Given the description of an element on the screen output the (x, y) to click on. 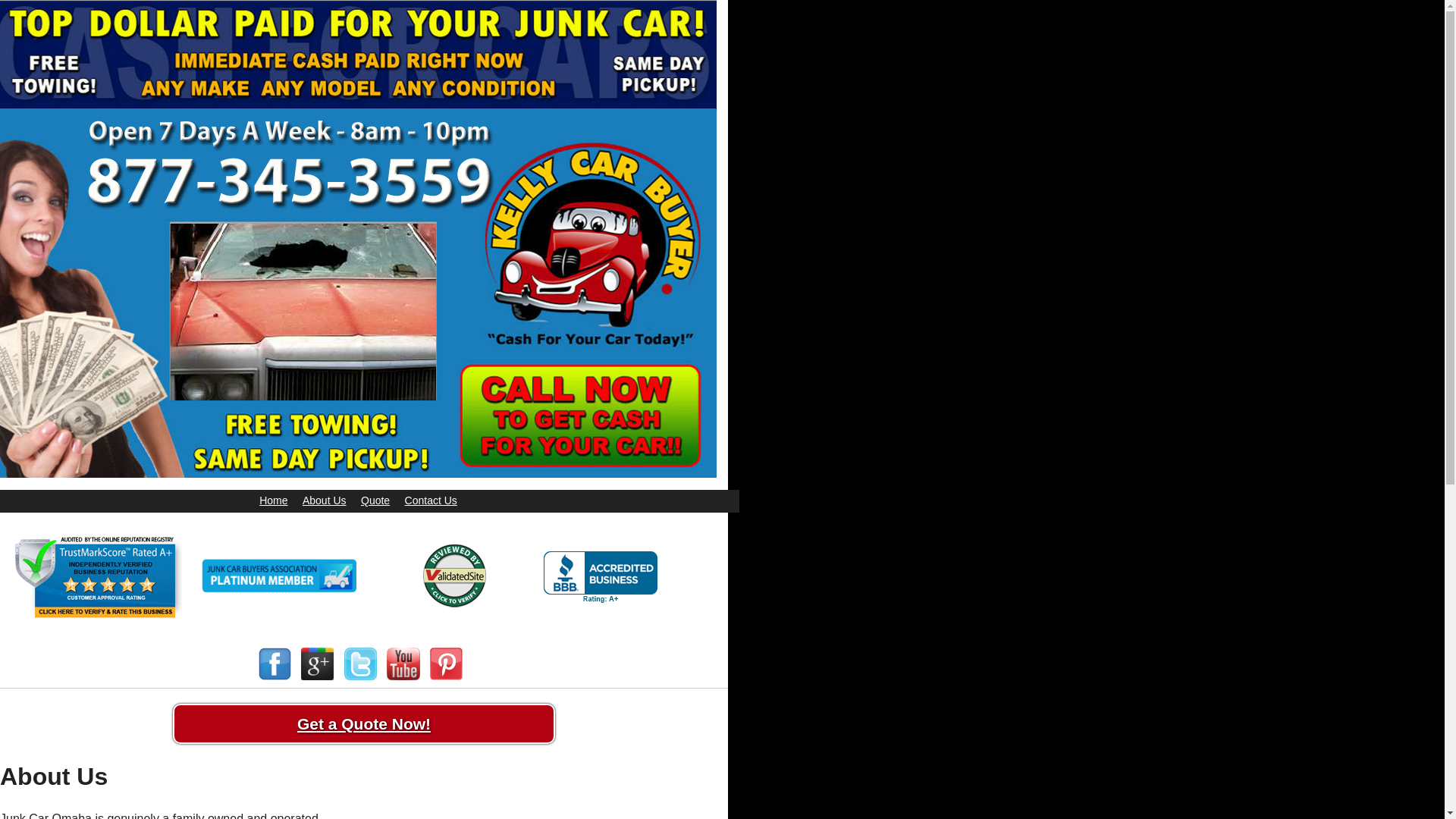
Kelly Car Buyer, Auto Dealers  Used Cars, Frankfort, IL (600, 577)
Home (272, 500)
Get a Quote Now! (363, 723)
Contact Us (430, 500)
Quote (375, 500)
About Us (324, 500)
